Given the description of an element on the screen output the (x, y) to click on. 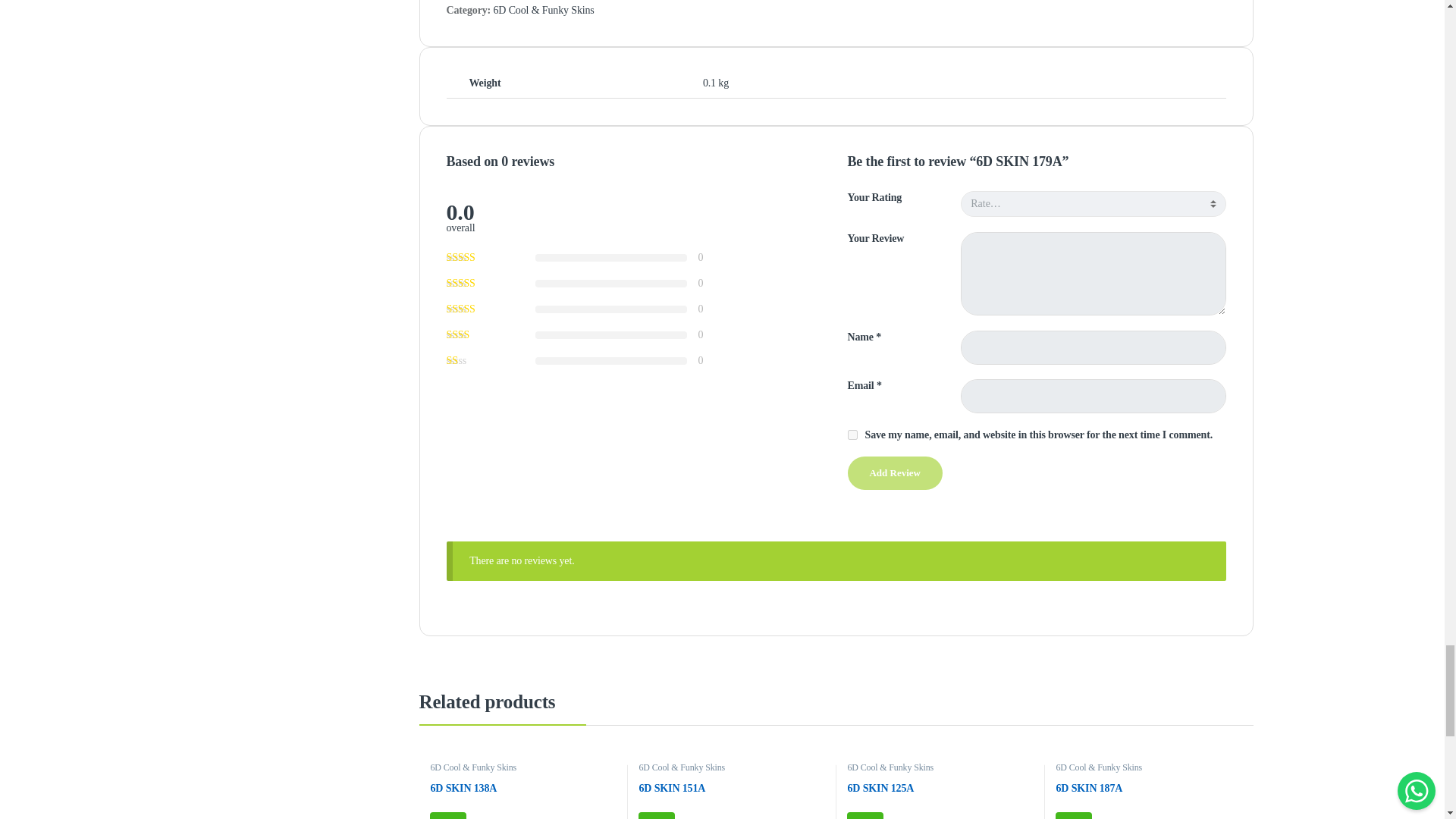
yes (852, 434)
Add Review (894, 472)
